Given the description of an element on the screen output the (x, y) to click on. 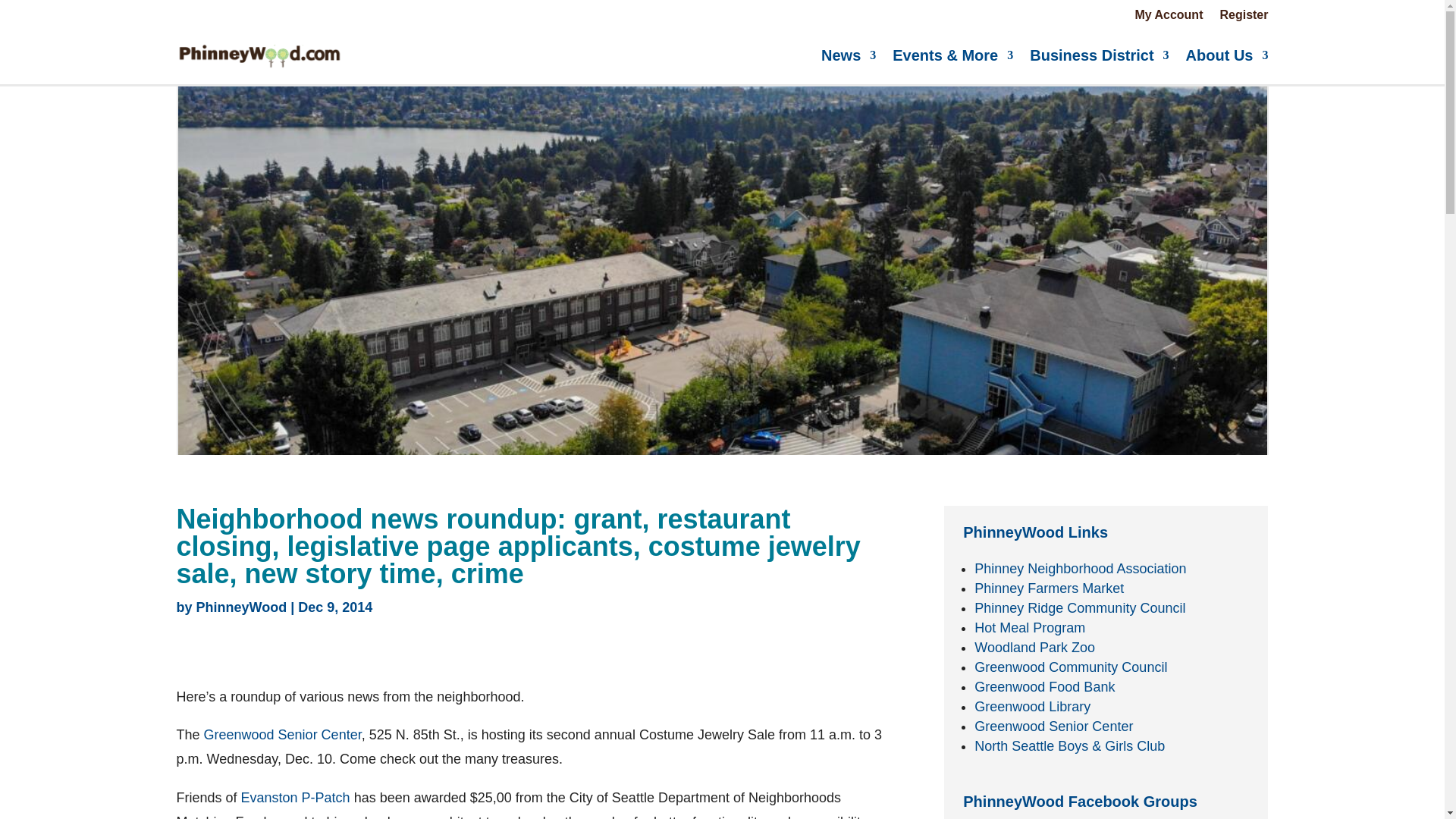
My Account (1168, 17)
Posts by PhinneyWood (241, 607)
Register (1244, 17)
News (848, 55)
